Given the description of an element on the screen output the (x, y) to click on. 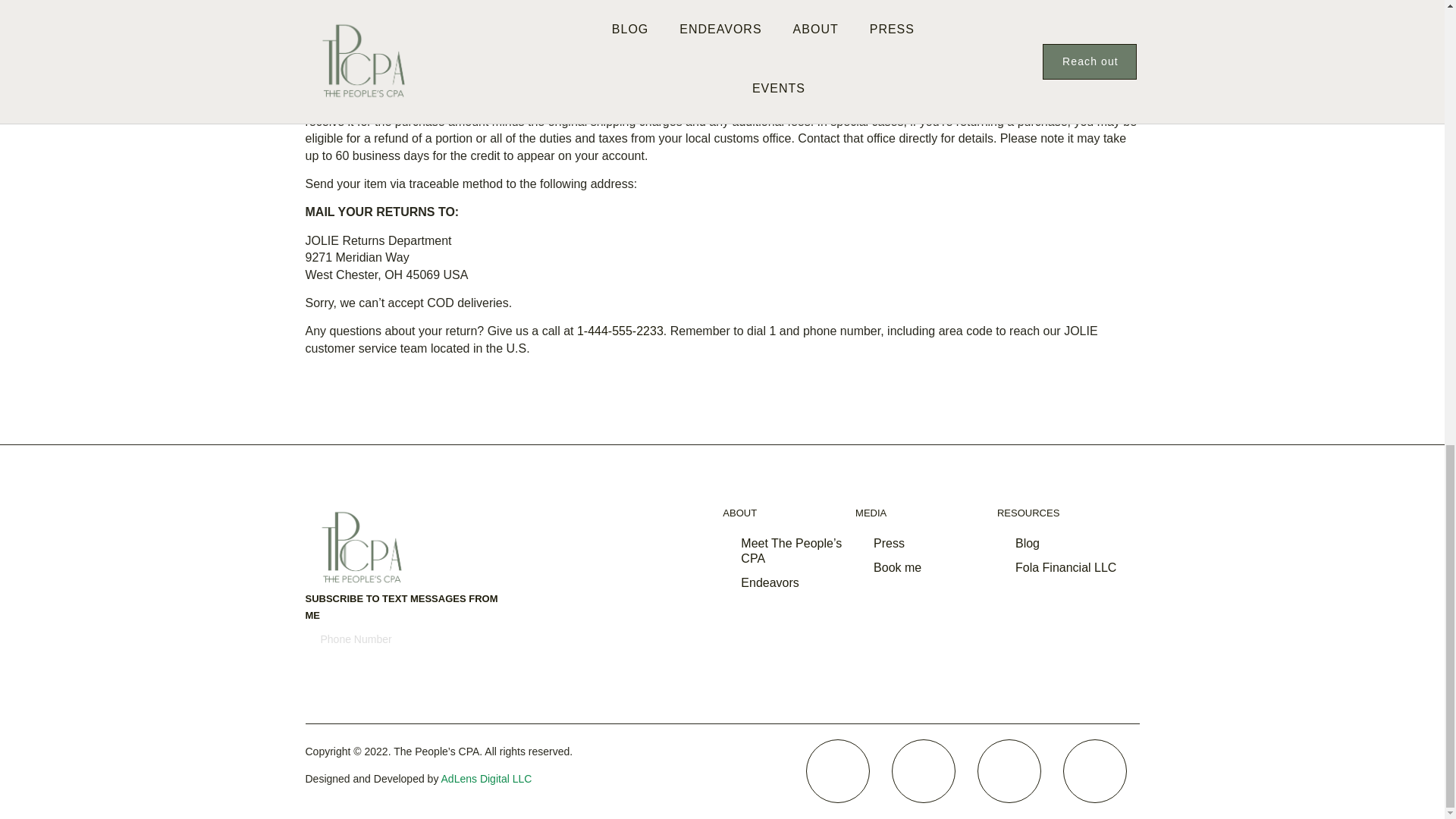
1-444-555-2233 (619, 330)
